Given the description of an element on the screen output the (x, y) to click on. 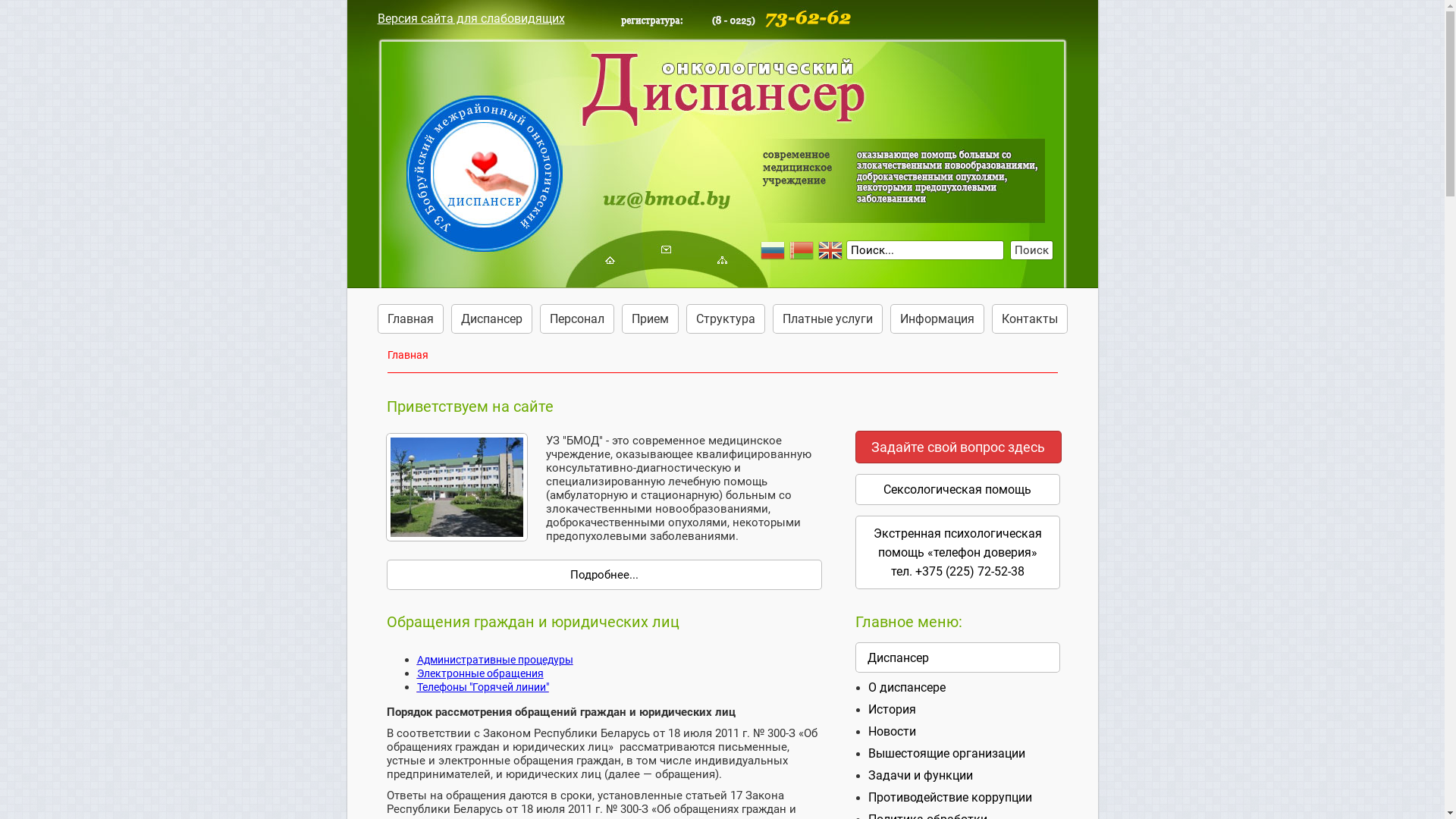
Belarusian Element type: hover (802, 250)
English Element type: hover (831, 250)
  Element type: text (666, 129)
Russian Element type: hover (773, 250)
  Element type: text (608, 258)
  Element type: text (664, 249)
  Element type: text (720, 258)
